Given the description of an element on the screen output the (x, y) to click on. 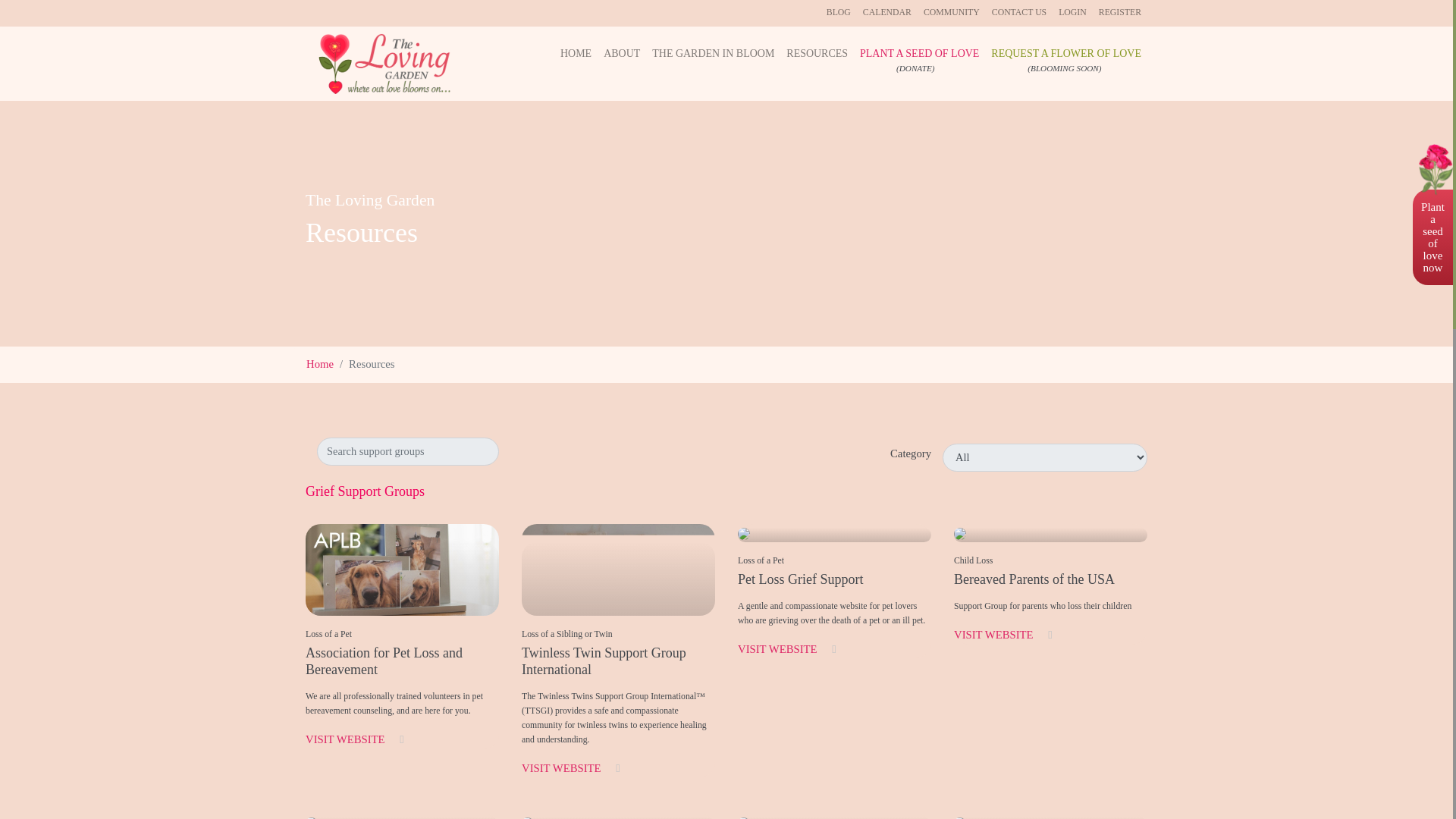
CONTACT US (1018, 13)
COMMUNITY (951, 13)
CALENDAR (887, 13)
RESOURCES (816, 53)
REGISTER (1120, 13)
HOME (575, 53)
Home (319, 364)
ABOUT (621, 53)
VISIT WEBSITE (354, 739)
VISIT WEBSITE (570, 767)
